Given the description of an element on the screen output the (x, y) to click on. 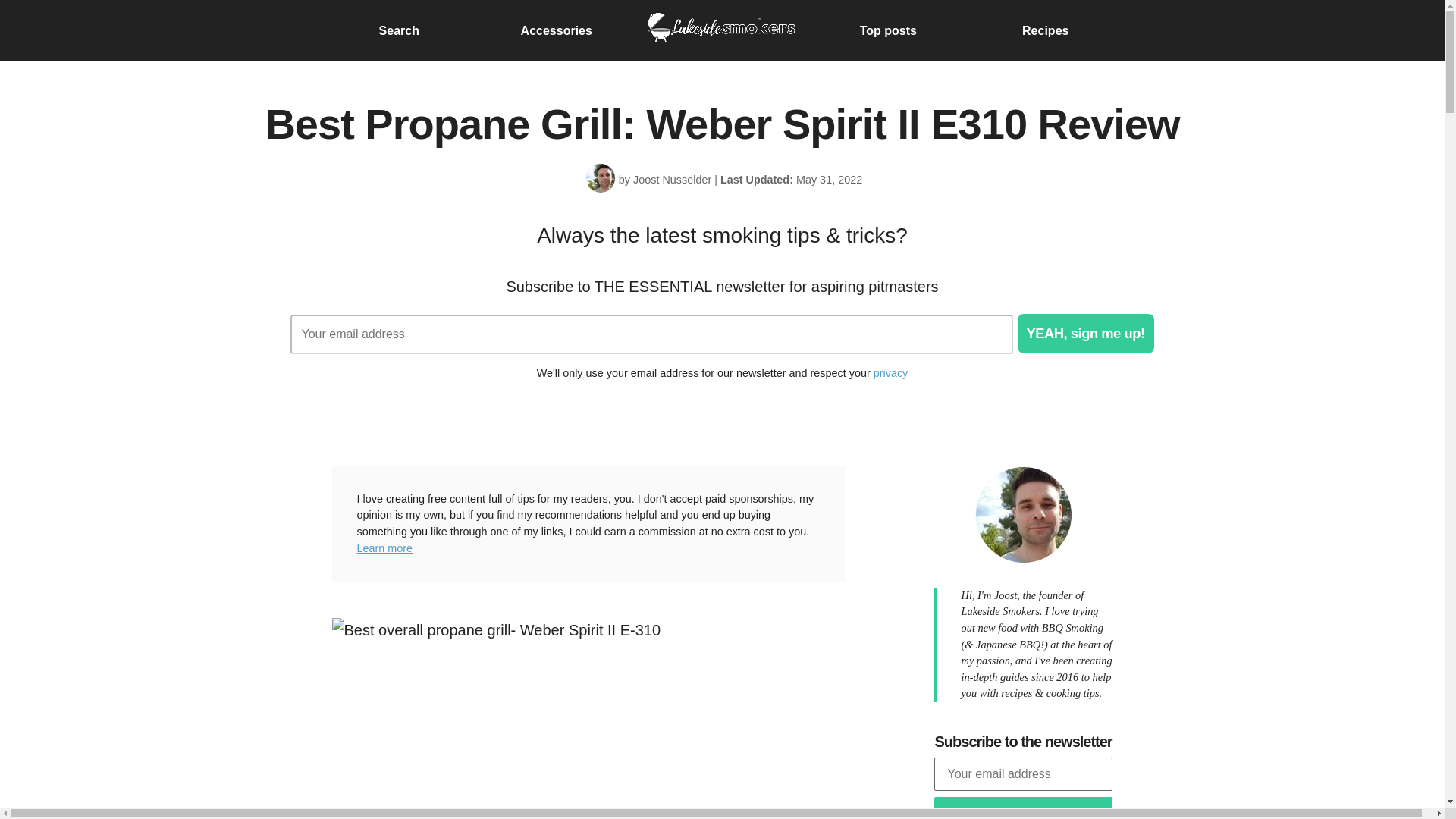
Accessories (556, 30)
YEAH, sign me up! (1085, 332)
Learn more (384, 548)
Top posts (888, 30)
privacy (890, 372)
Search (398, 30)
Logo (721, 30)
Recipes (1045, 30)
Sign me up! (1023, 807)
